Given the description of an element on the screen output the (x, y) to click on. 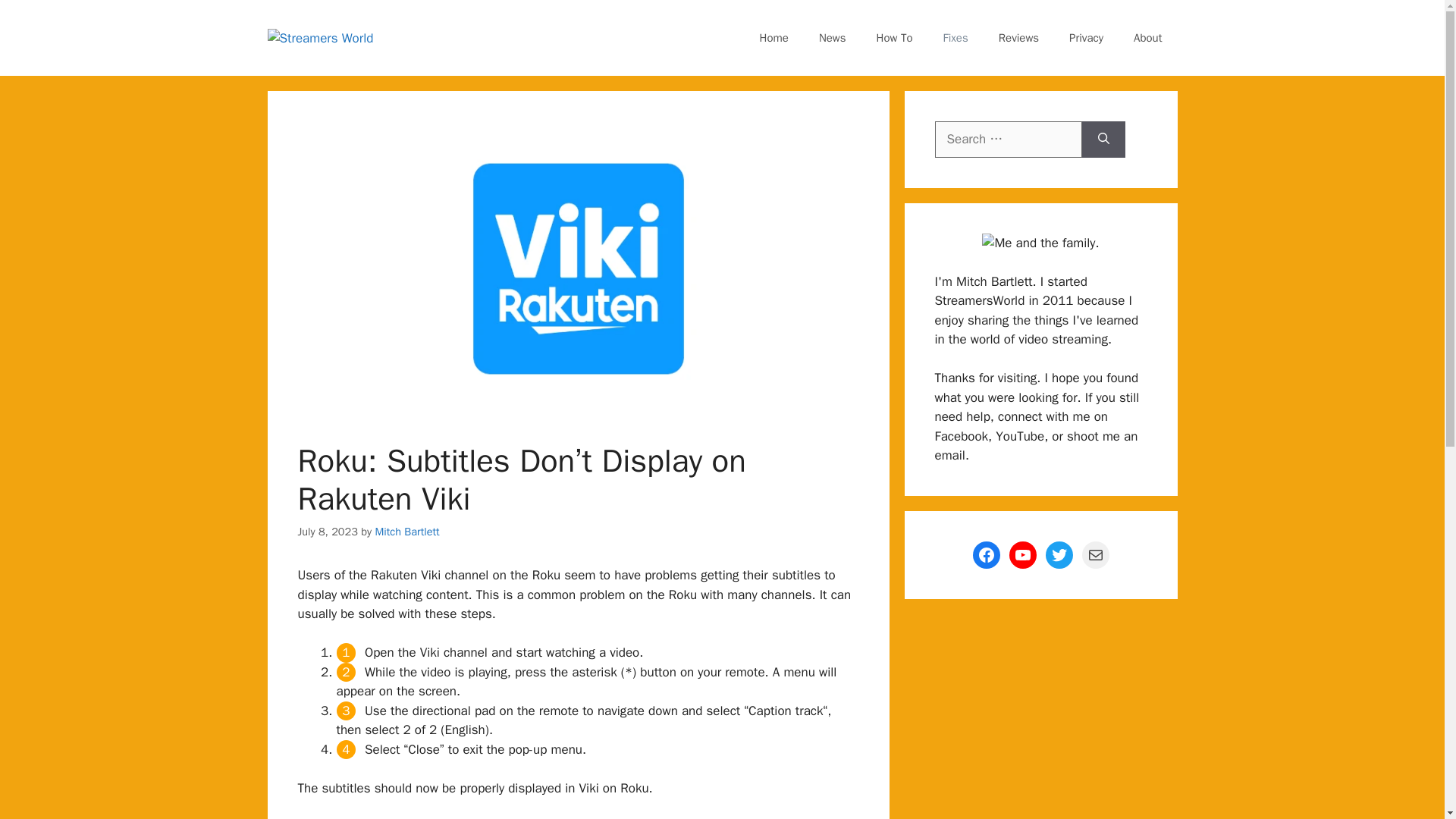
Home (773, 37)
News (832, 37)
Facebook (985, 554)
Fixes (956, 37)
Search for: (1007, 139)
YouTube (1022, 554)
Reviews (1019, 37)
Mail (1094, 554)
How To (894, 37)
Twitter (1058, 554)
Privacy (1086, 37)
Mitch Bartlett (406, 531)
About (1147, 37)
View all posts by Mitch Bartlett (406, 531)
